Given the description of an element on the screen output the (x, y) to click on. 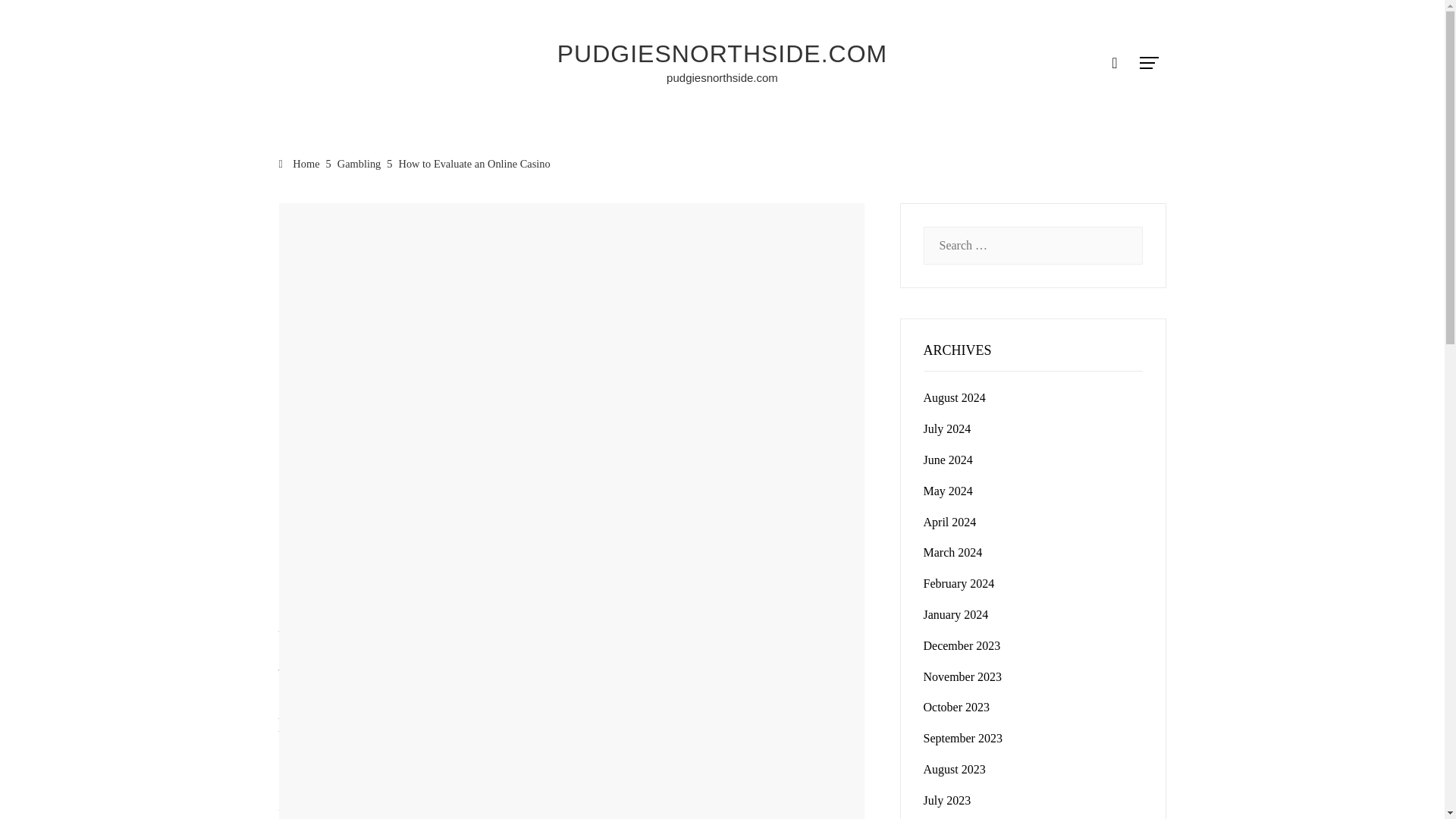
March 2024 (952, 552)
February 2024 (958, 583)
pudgiesnorthside.com (721, 77)
April 2024 (949, 521)
January 2024 (955, 614)
Gambling (359, 163)
June 2024 (947, 459)
Home (299, 163)
May 2024 (947, 490)
November 2023 (963, 676)
August 2024 (954, 397)
GAMBLING (305, 207)
Search (35, 18)
December 2023 (962, 645)
August 2023 (954, 768)
